Given the description of an element on the screen output the (x, y) to click on. 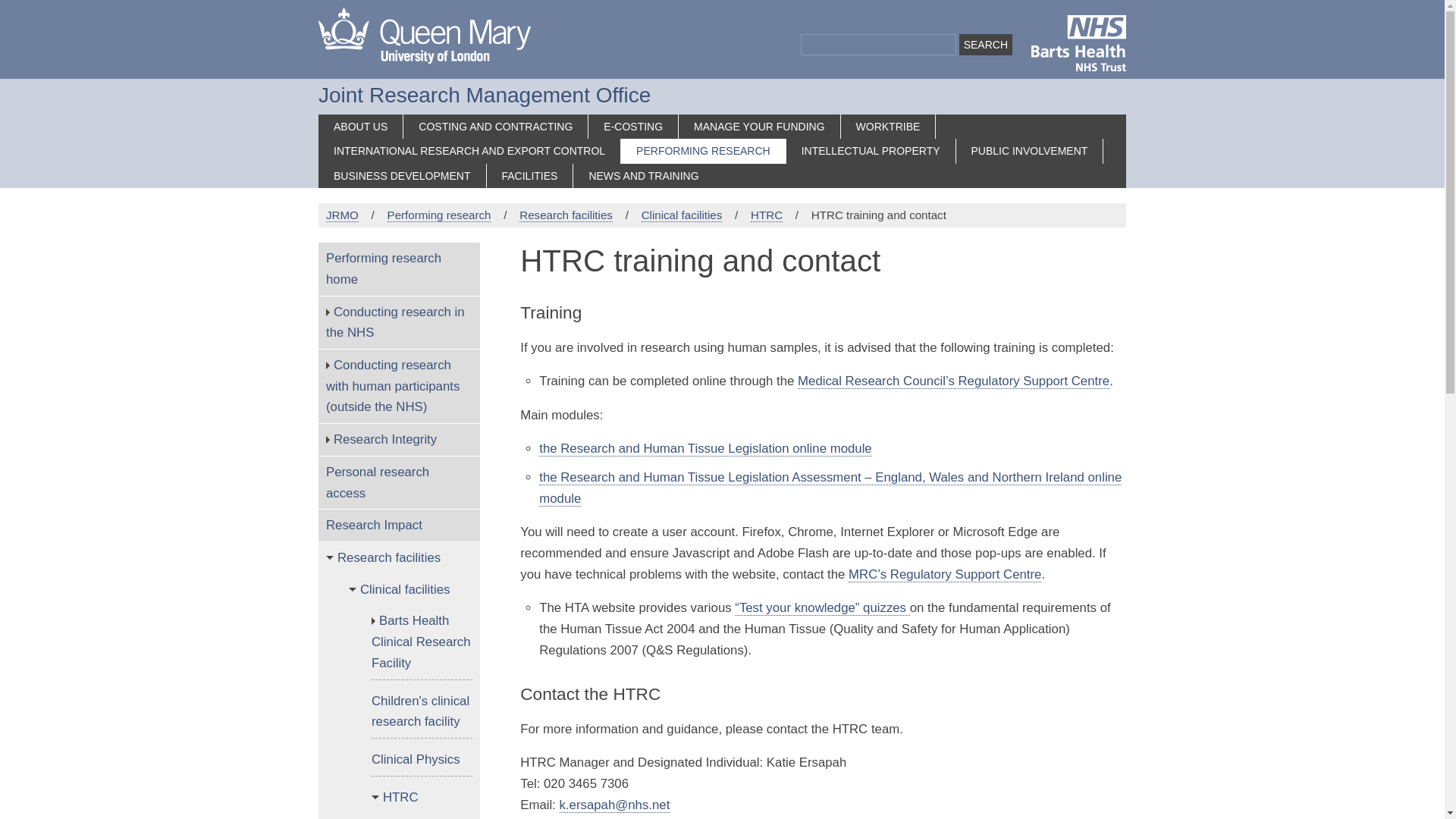
PUBLIC INVOLVEMENT (1029, 150)
INTERNATIONAL RESEARCH AND EXPORT CONTROL (469, 150)
Performing research (439, 214)
Performing research home (398, 268)
Research facilities (565, 214)
NEWS AND TRAINING (643, 176)
HTRC (767, 214)
E-COSTING (633, 126)
Search (985, 44)
Research Integrity (398, 439)
